Given the description of an element on the screen output the (x, y) to click on. 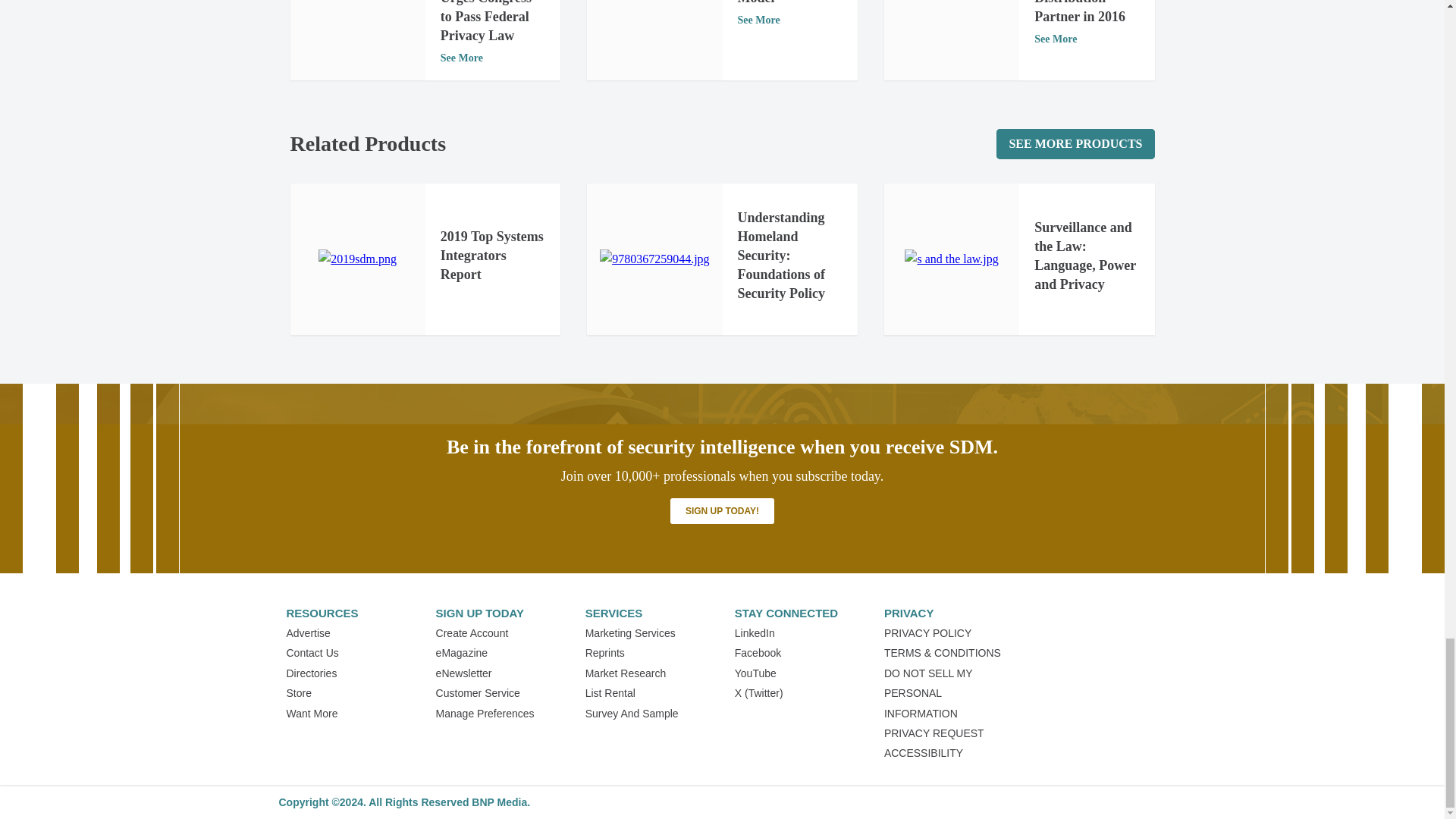
s and the law.jpg (950, 259)
9780367259044.jpg (654, 259)
2019sdm.png (357, 259)
